Given the description of an element on the screen output the (x, y) to click on. 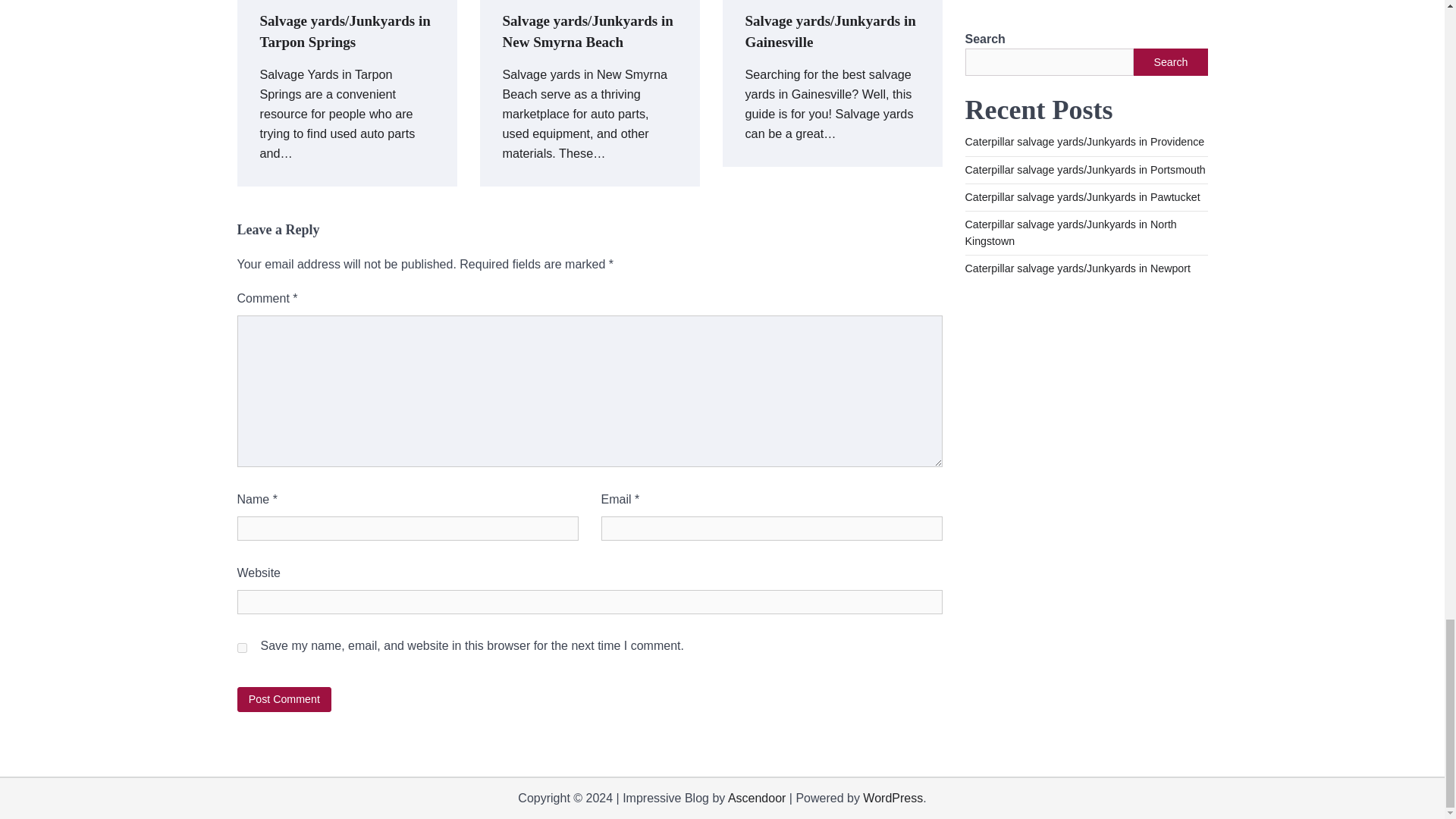
yes (240, 647)
Ascendoor (757, 797)
Post Comment (283, 699)
Post Comment (283, 699)
WordPress (893, 797)
